Given the description of an element on the screen output the (x, y) to click on. 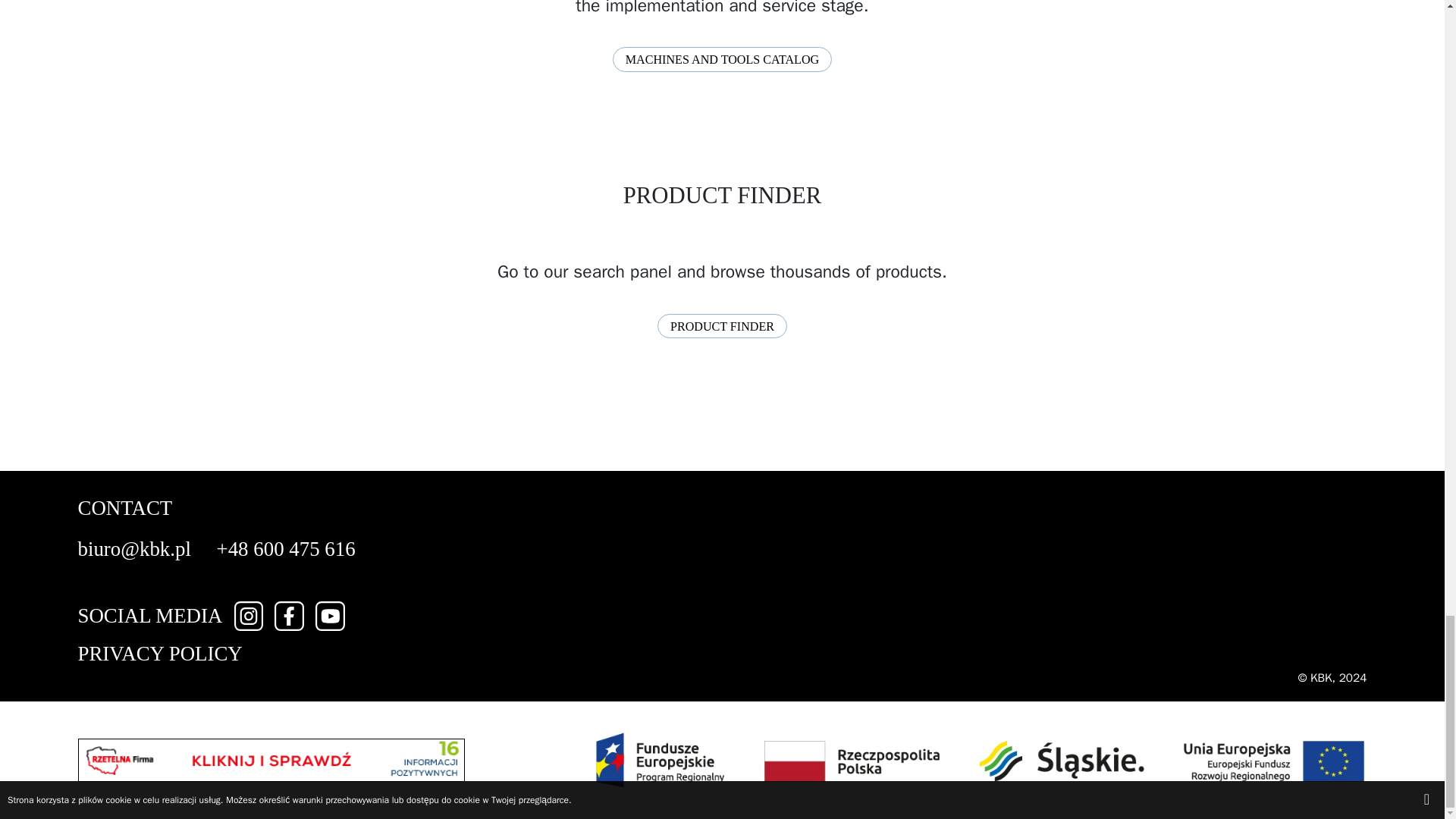
CONTACT (124, 507)
MACHINES AND TOOLS CATALOG (722, 59)
PRODUCT FINDER (722, 326)
